Given the description of an element on the screen output the (x, y) to click on. 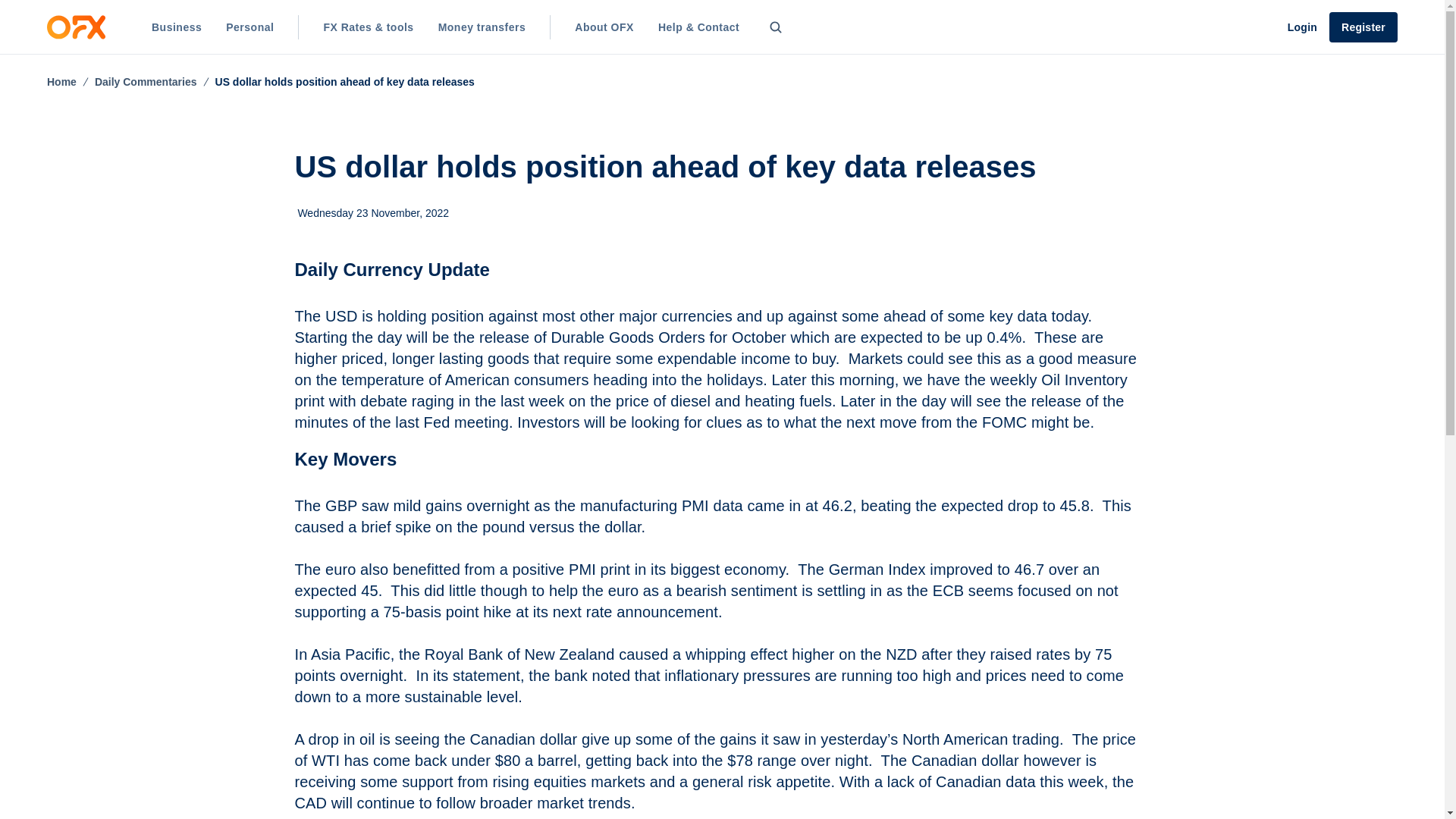
Business (176, 27)
Personal (249, 27)
